Given the description of an element on the screen output the (x, y) to click on. 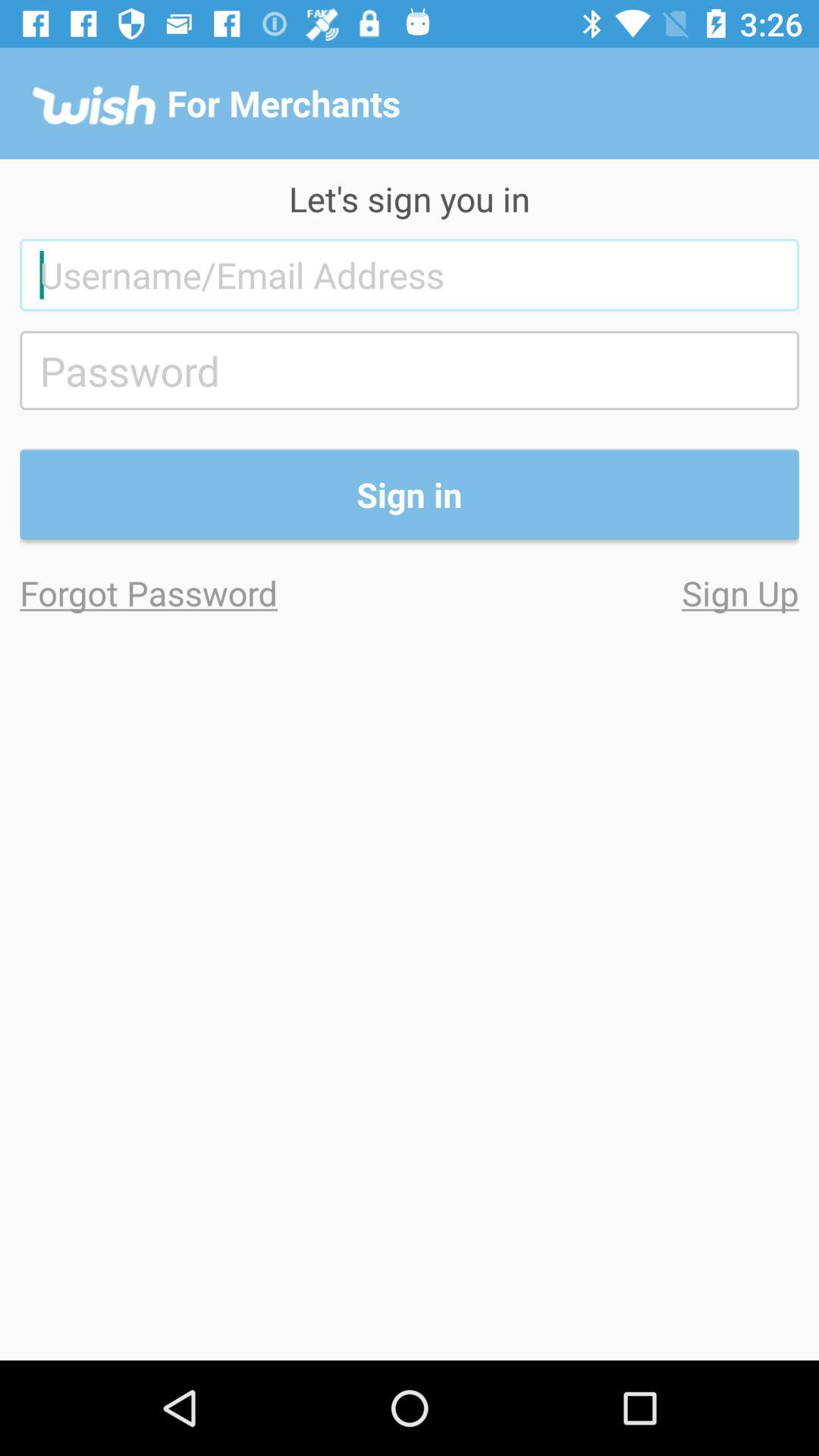
turn on the forgot password icon (214, 592)
